Given the description of an element on the screen output the (x, y) to click on. 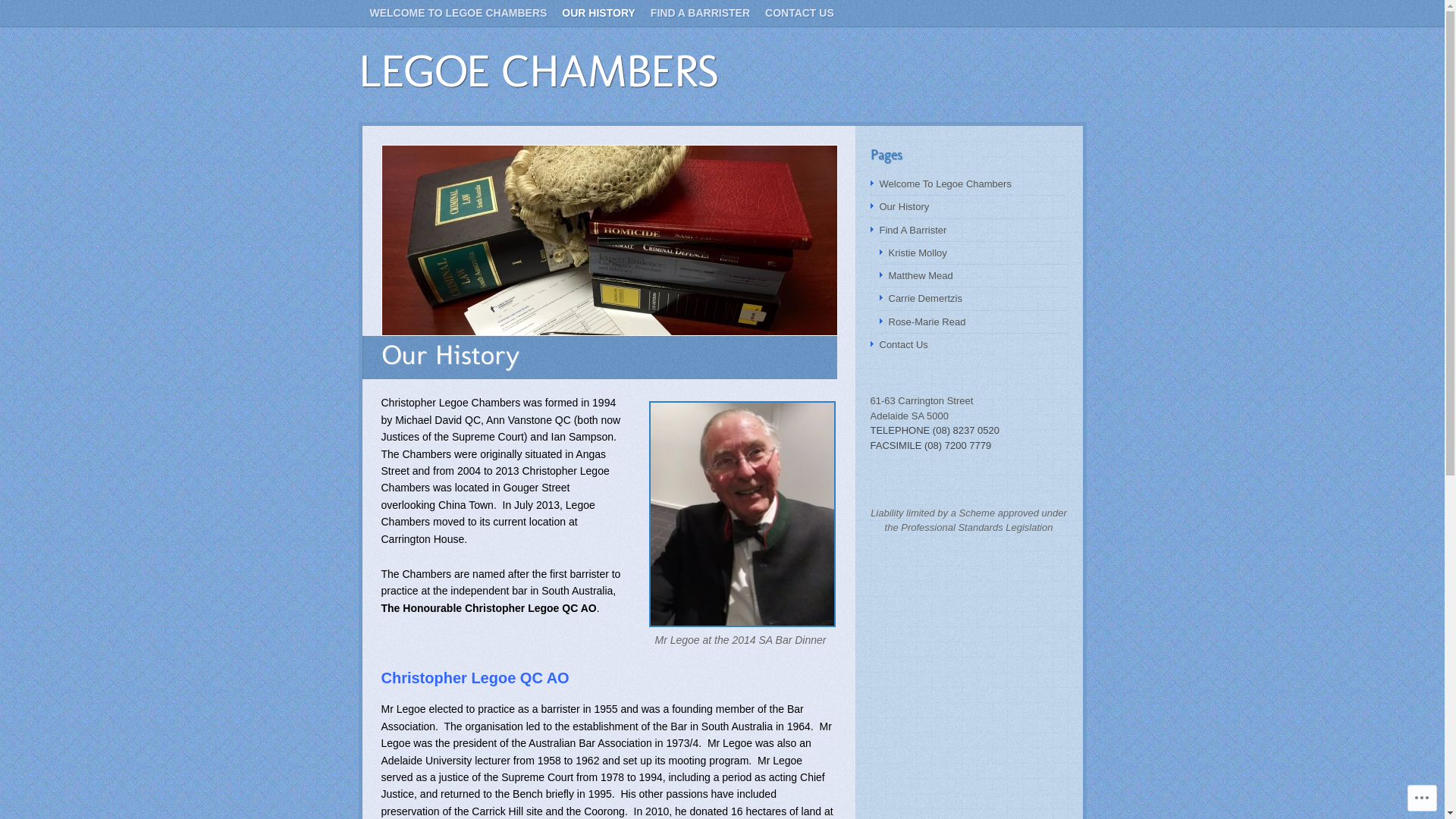
Matthew Mead Element type: text (920, 275)
LEGOE CHAMBERS Element type: text (537, 70)
CONTACT US Element type: text (799, 13)
WELCOME TO LEGOE CHAMBERS Element type: text (458, 13)
Kristie Molloy Element type: text (917, 252)
Rose-Marie Read Element type: text (927, 320)
61-63 Carrington Street
Adelaide SA 5000 Element type: text (921, 408)
Our History Element type: text (904, 206)
OUR HISTORY Element type: text (598, 13)
Carrie Demertzis Element type: text (925, 298)
Welcome To Legoe Chambers Element type: text (945, 183)
Find A Barrister Element type: text (913, 229)
Contact Us Element type: text (903, 344)
FIND A BARRISTER Element type: text (700, 13)
